Given the description of an element on the screen output the (x, y) to click on. 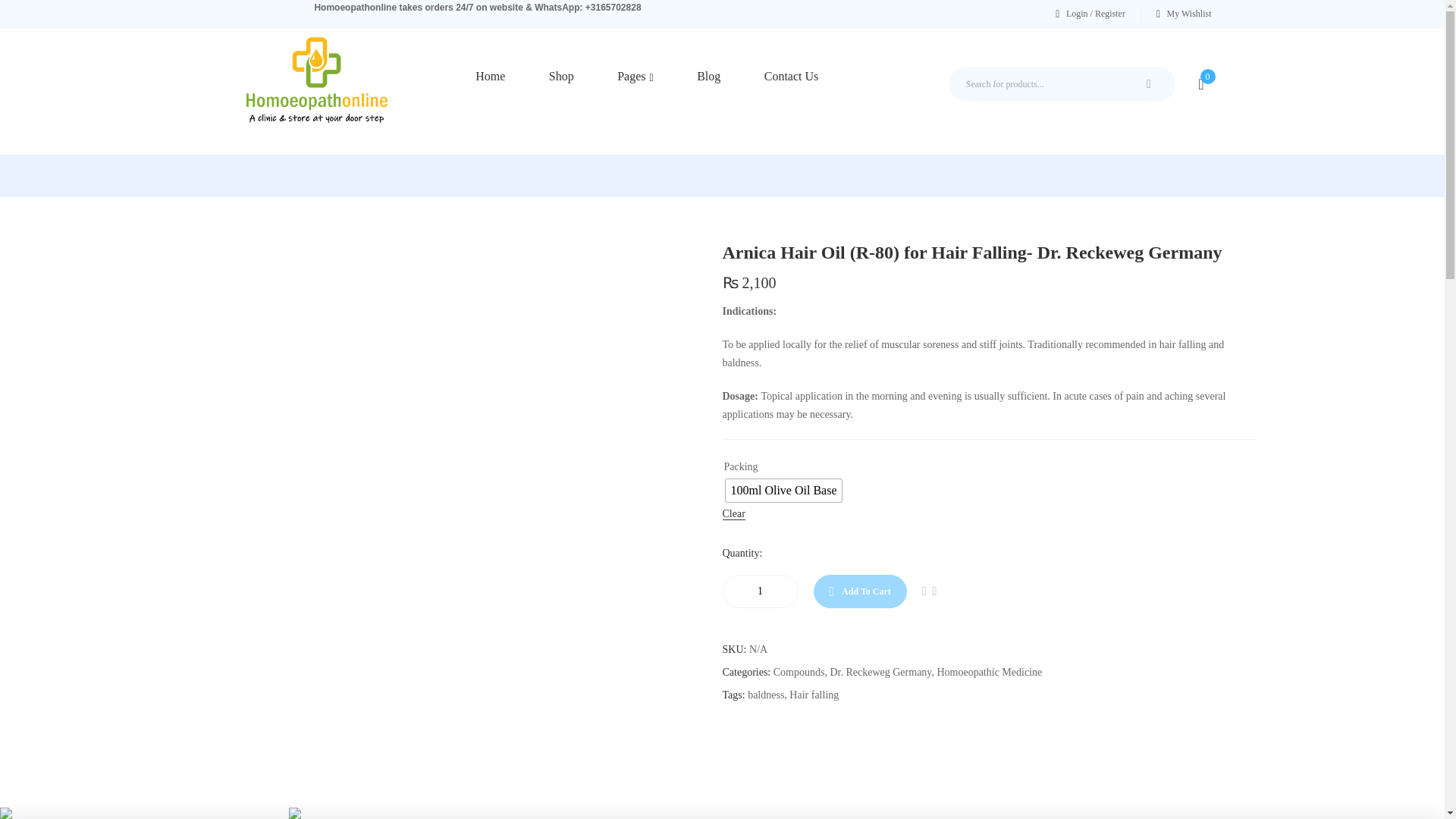
Blog (709, 75)
Pages (634, 75)
Contact Us (792, 75)
Search (1151, 83)
100ml Olive Oil Base (783, 490)
Shop (561, 75)
Home (489, 75)
My Wishlist (1183, 13)
